Given the description of an element on the screen output the (x, y) to click on. 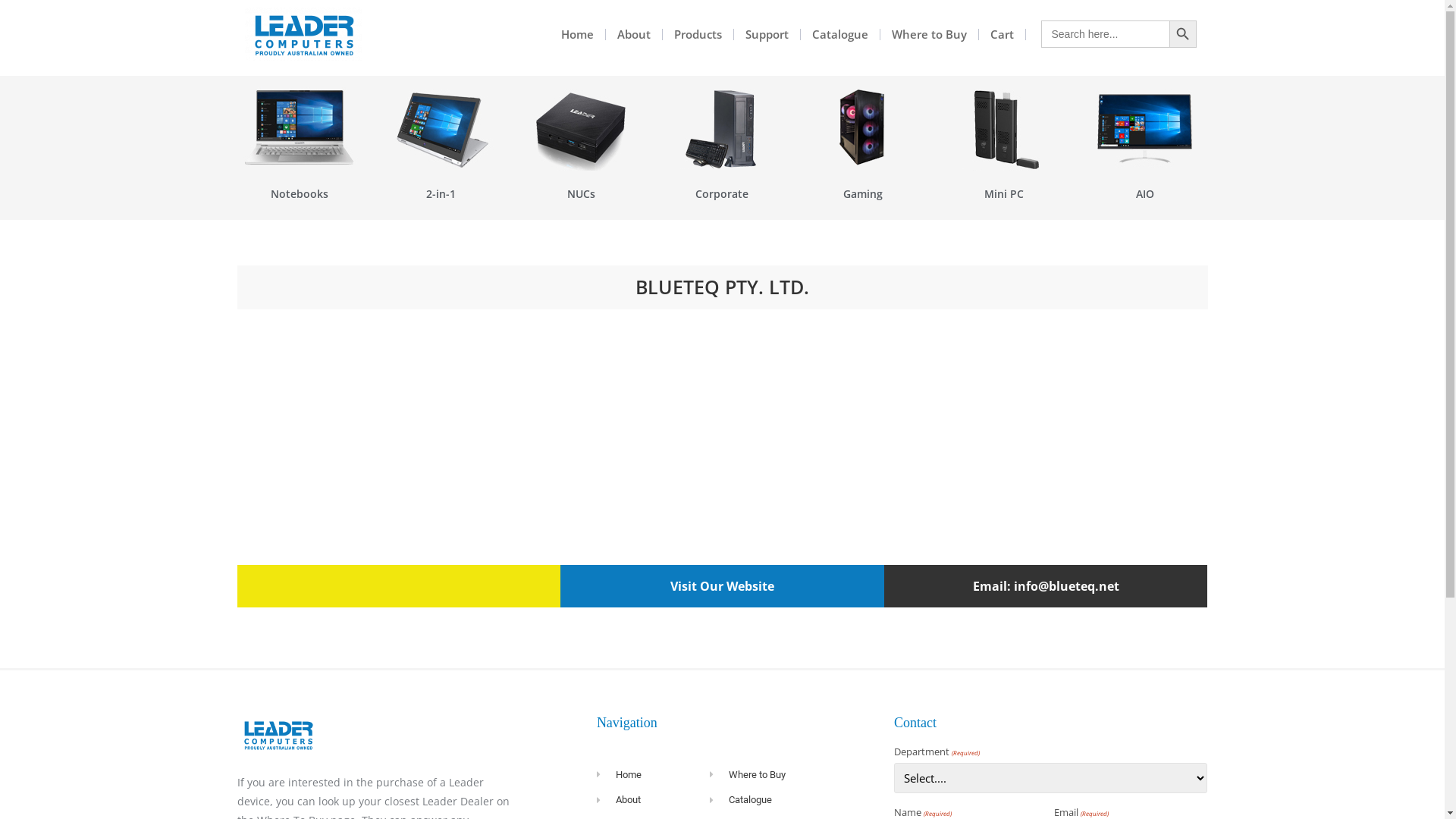
Catalogue Element type: text (840, 34)
Home Element type: text (652, 774)
Catalogue Element type: text (793, 799)
Cart Element type: text (1002, 34)
Support Element type: text (767, 34)
Gaming Element type: text (862, 193)
AIO Element type: text (1144, 193)
Notebooks Element type: text (299, 193)
Where to Buy Element type: text (793, 774)
Where to Buy Element type: text (929, 34)
Corporate Element type: text (721, 193)
Home Element type: text (577, 34)
2-in-1 Element type: text (440, 193)
Products Element type: text (698, 34)
NUCs Element type: text (581, 193)
About Element type: text (633, 34)
405 Wattletree Road Element type: hover (721, 438)
Search Button Element type: text (1182, 33)
Mini PC Element type: text (1003, 193)
About Element type: text (652, 799)
Leader Computers Element type: hover (302, 33)
